Given the description of an element on the screen output the (x, y) to click on. 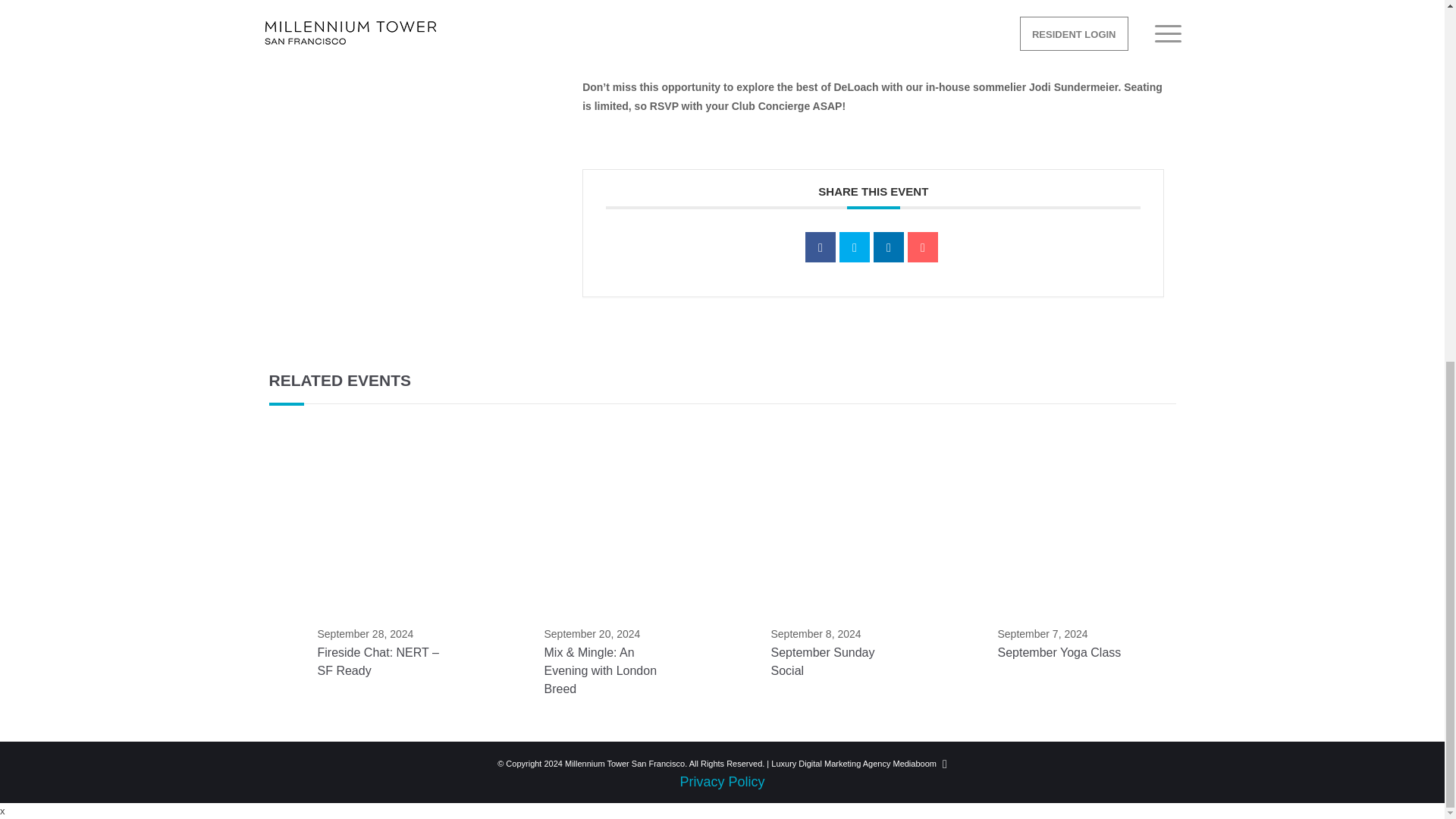
Email (922, 246)
September Sunday Social (822, 661)
September Yoga Class (1059, 652)
Tweet (854, 246)
Share on Facebook (820, 246)
Luxury Digital Marketing Agency Mediaboom (853, 763)
Privacy Policy (721, 781)
Linkedin (888, 246)
